Given the description of an element on the screen output the (x, y) to click on. 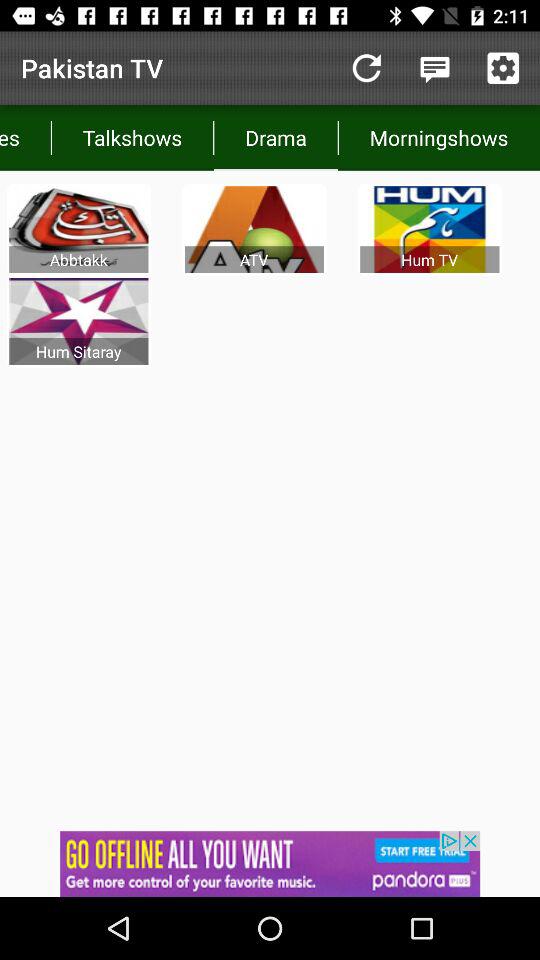
open notifications (434, 67)
